Given the description of an element on the screen output the (x, y) to click on. 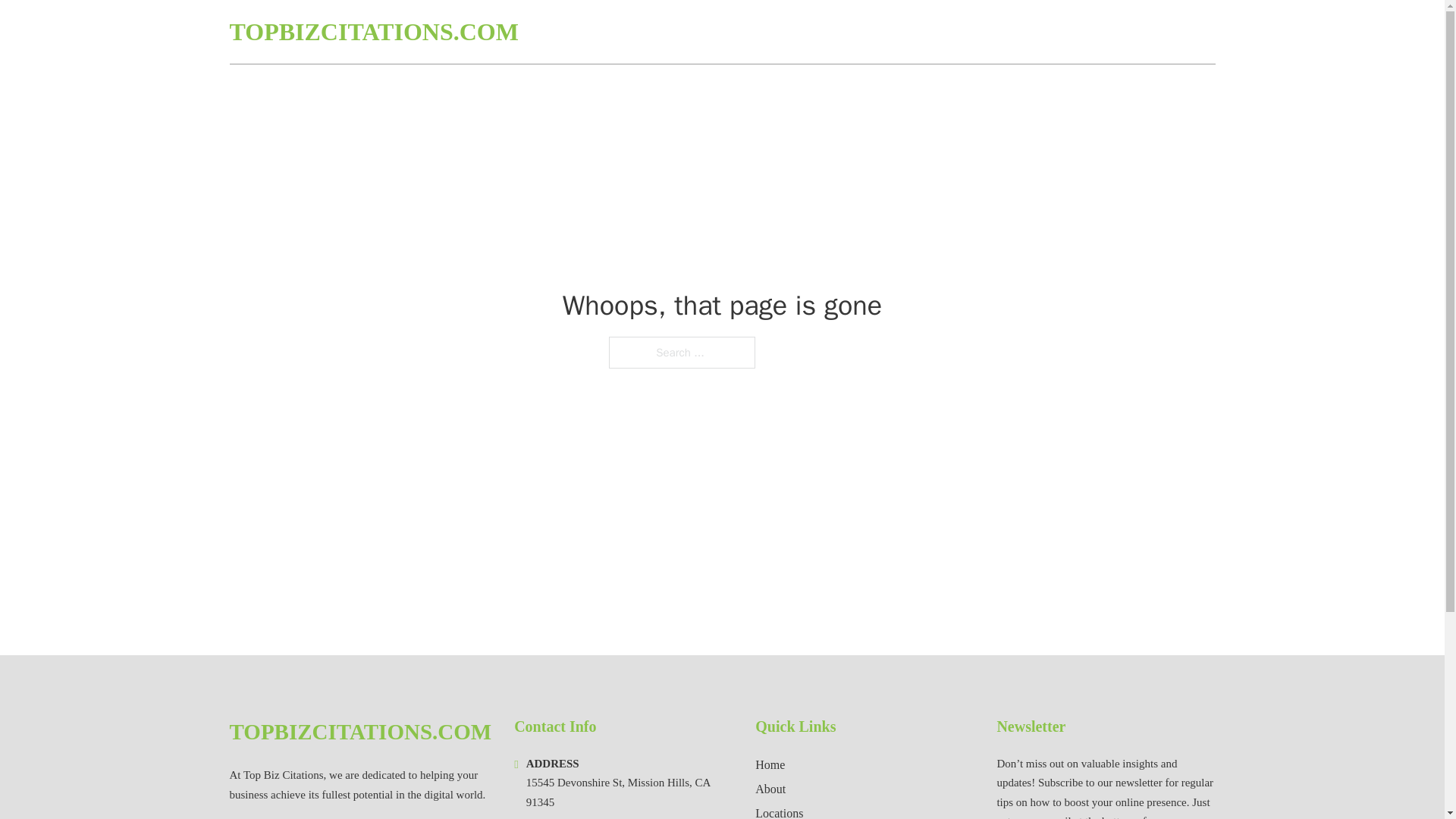
TOPBIZCITATIONS.COM (360, 732)
Home (769, 764)
LOCATIONS (1105, 31)
HOME (1032, 31)
Locations (779, 811)
About (770, 788)
TOPBIZCITATIONS.COM (373, 31)
